Given the description of an element on the screen output the (x, y) to click on. 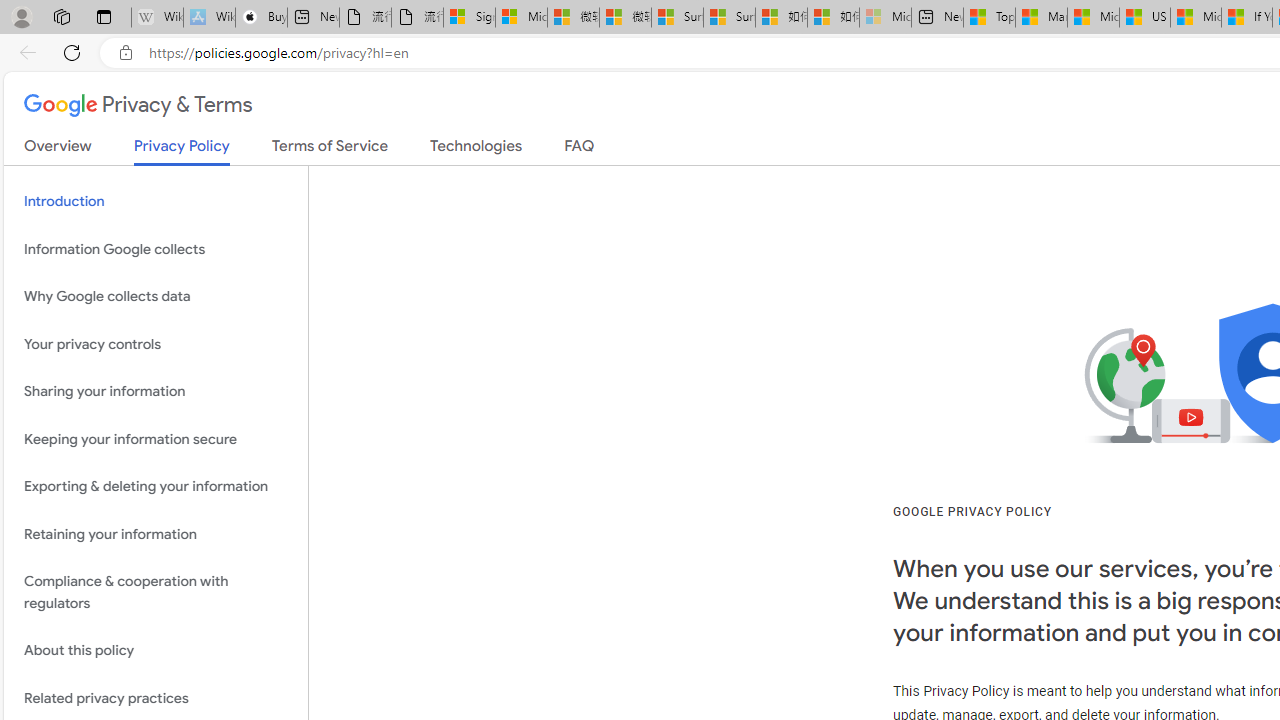
Exporting & deleting your information (155, 486)
Sharing your information (155, 391)
Terms of Service (330, 150)
Overview (58, 150)
Microsoft account | Account Checkup - Sleeping (885, 17)
About this policy (155, 651)
US Heat Deaths Soared To Record High Last Year (1144, 17)
Your privacy controls (155, 343)
Technologies (476, 150)
Why Google collects data (155, 296)
